Given the description of an element on the screen output the (x, y) to click on. 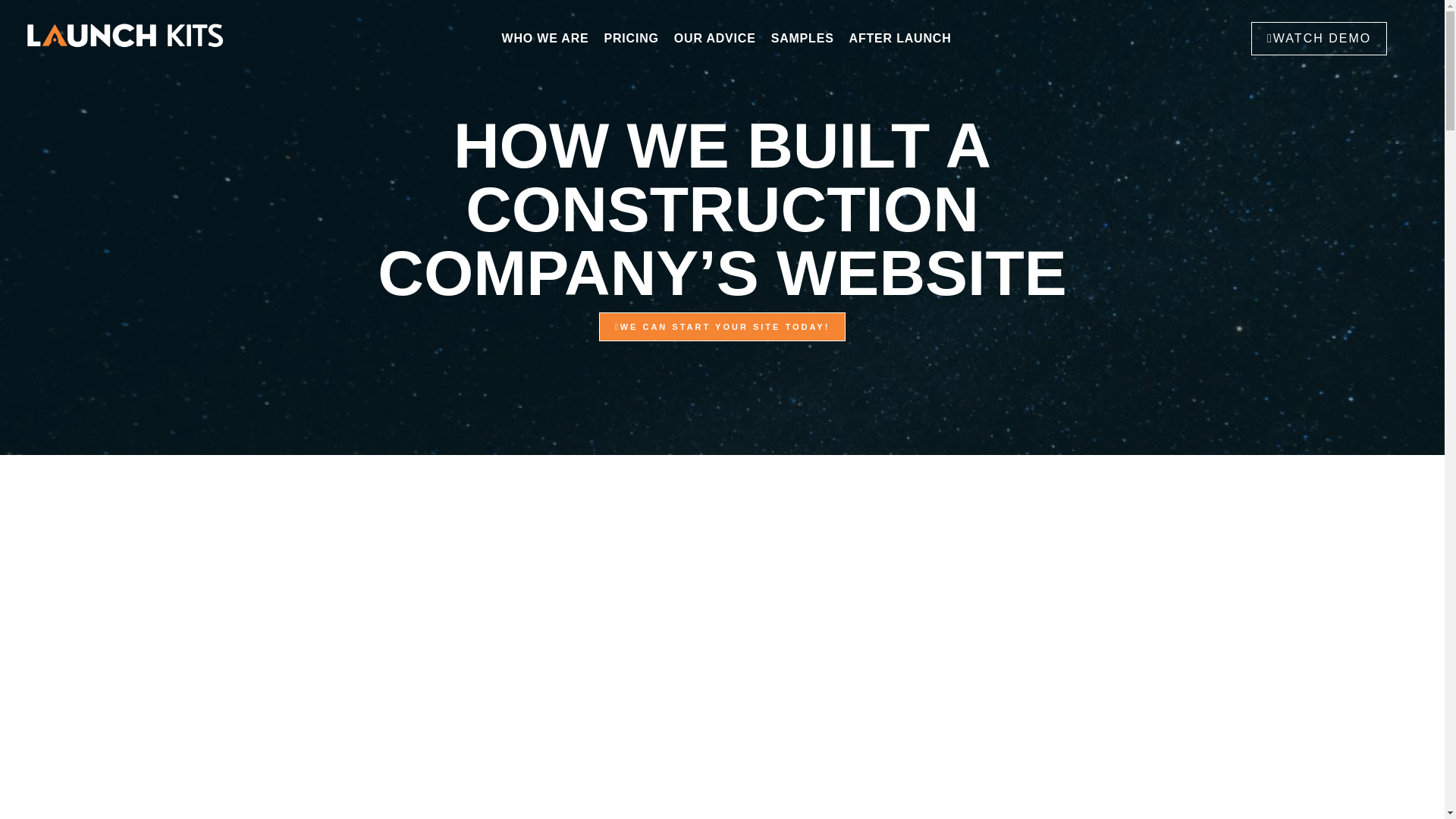
PRICING (631, 38)
WATCH DEMO (1318, 38)
OUR ADVICE (714, 38)
WHO WE ARE (545, 38)
WE CAN START YOUR SITE TODAY! (721, 327)
AFTER LAUNCH (900, 38)
SAMPLES (801, 38)
